Given the description of an element on the screen output the (x, y) to click on. 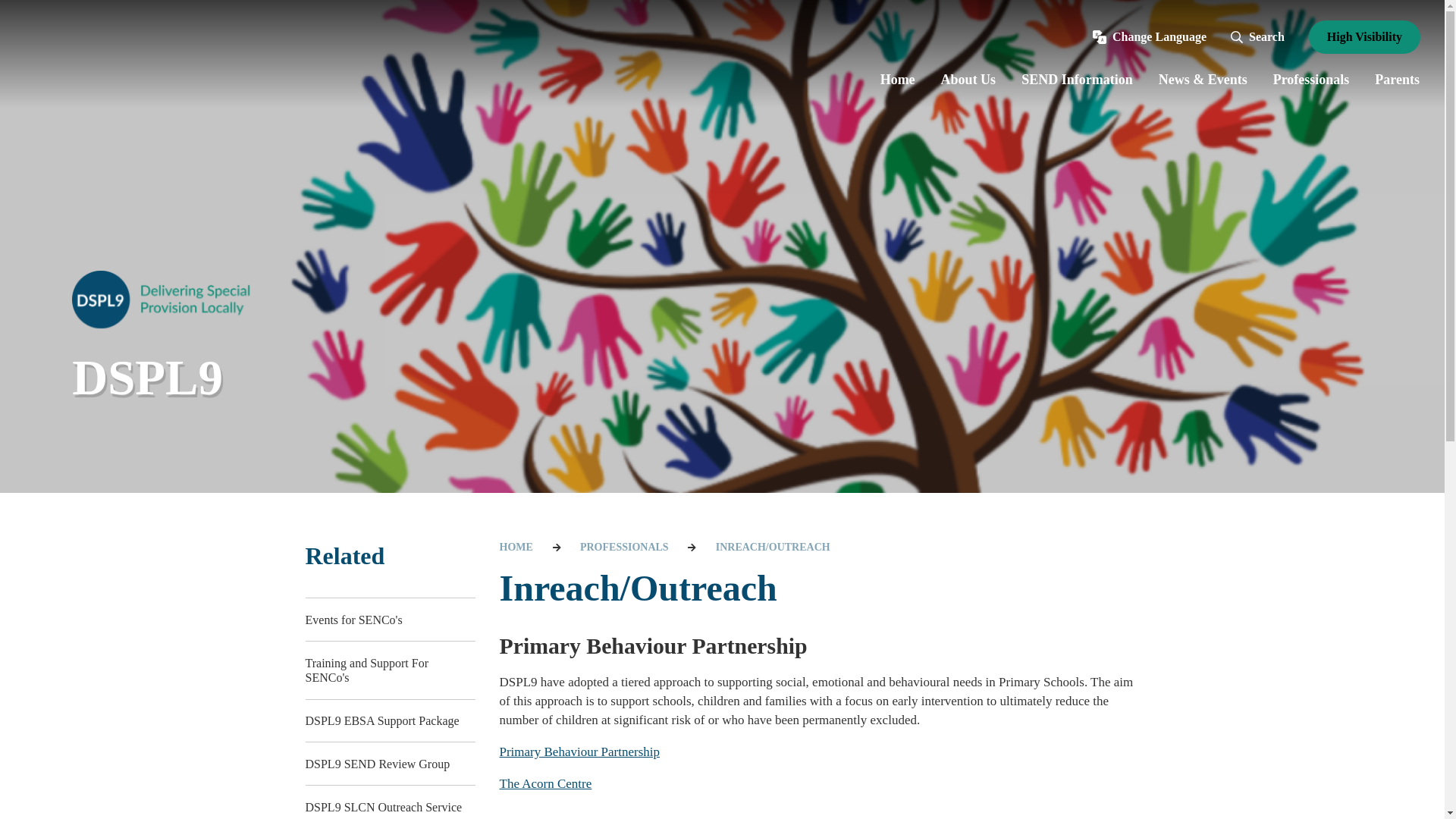
Change Language (1150, 36)
SEND Information (1077, 80)
Search (1257, 36)
Search (1255, 99)
Professionals (1311, 80)
About Us (968, 80)
High Visibility (1364, 37)
Home (897, 80)
